Given the description of an element on the screen output the (x, y) to click on. 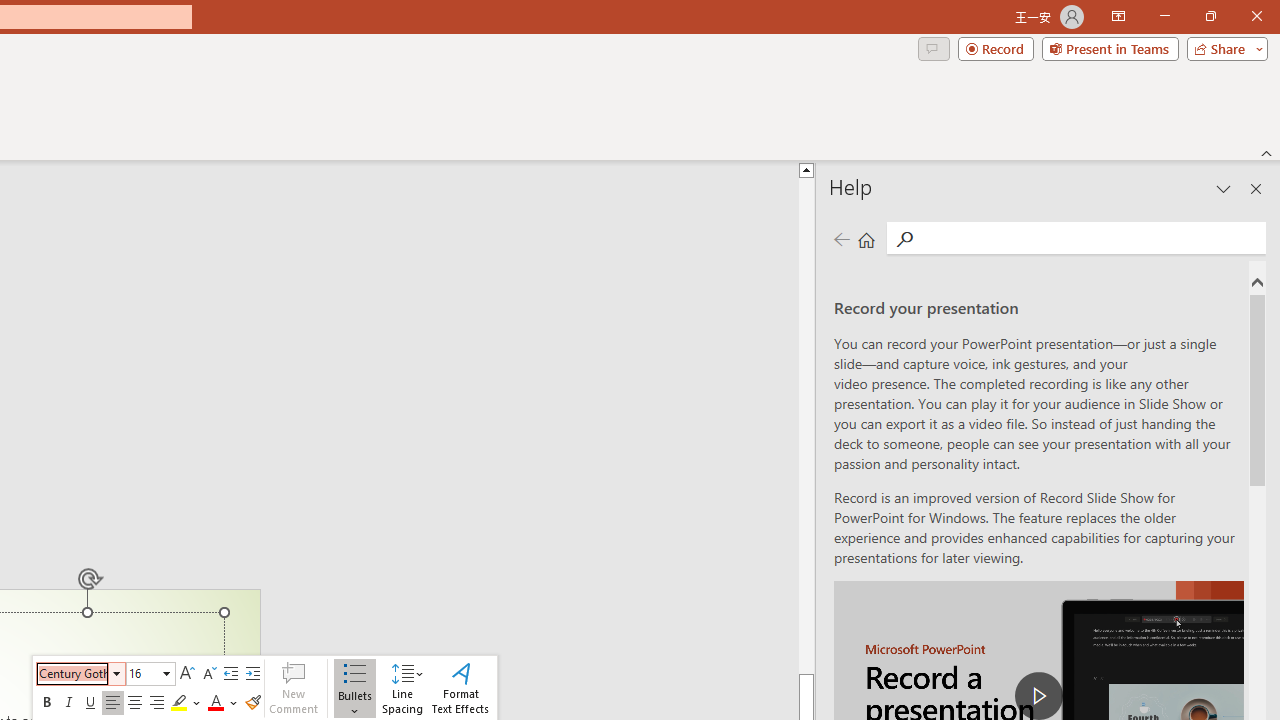
Class: NetUIComboboxAnchor (150, 673)
play Record a Presentation (1038, 695)
Format Text Effects... (460, 687)
